Given the description of an element on the screen output the (x, y) to click on. 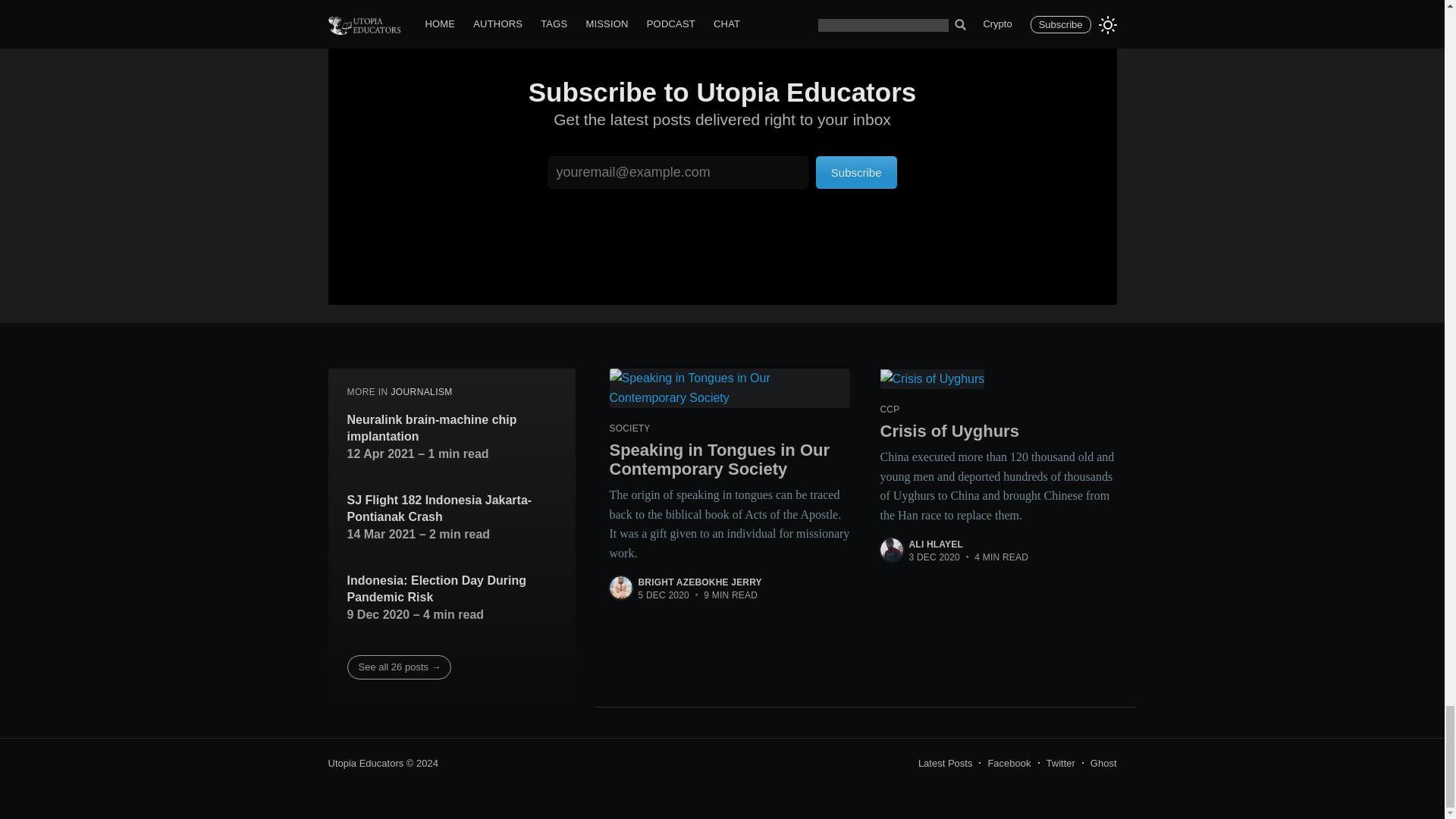
Utopia Educators (365, 763)
JOURNALISM (420, 391)
ALI HLAYEL (935, 543)
BRIGHT AZEBOKHE JERRY (700, 582)
Latest Posts (945, 763)
SJ Flight 182 Indonesia Jakarta-Pontianak Crash (451, 508)
Ghost (1103, 763)
Subscribe (855, 172)
